Given the description of an element on the screen output the (x, y) to click on. 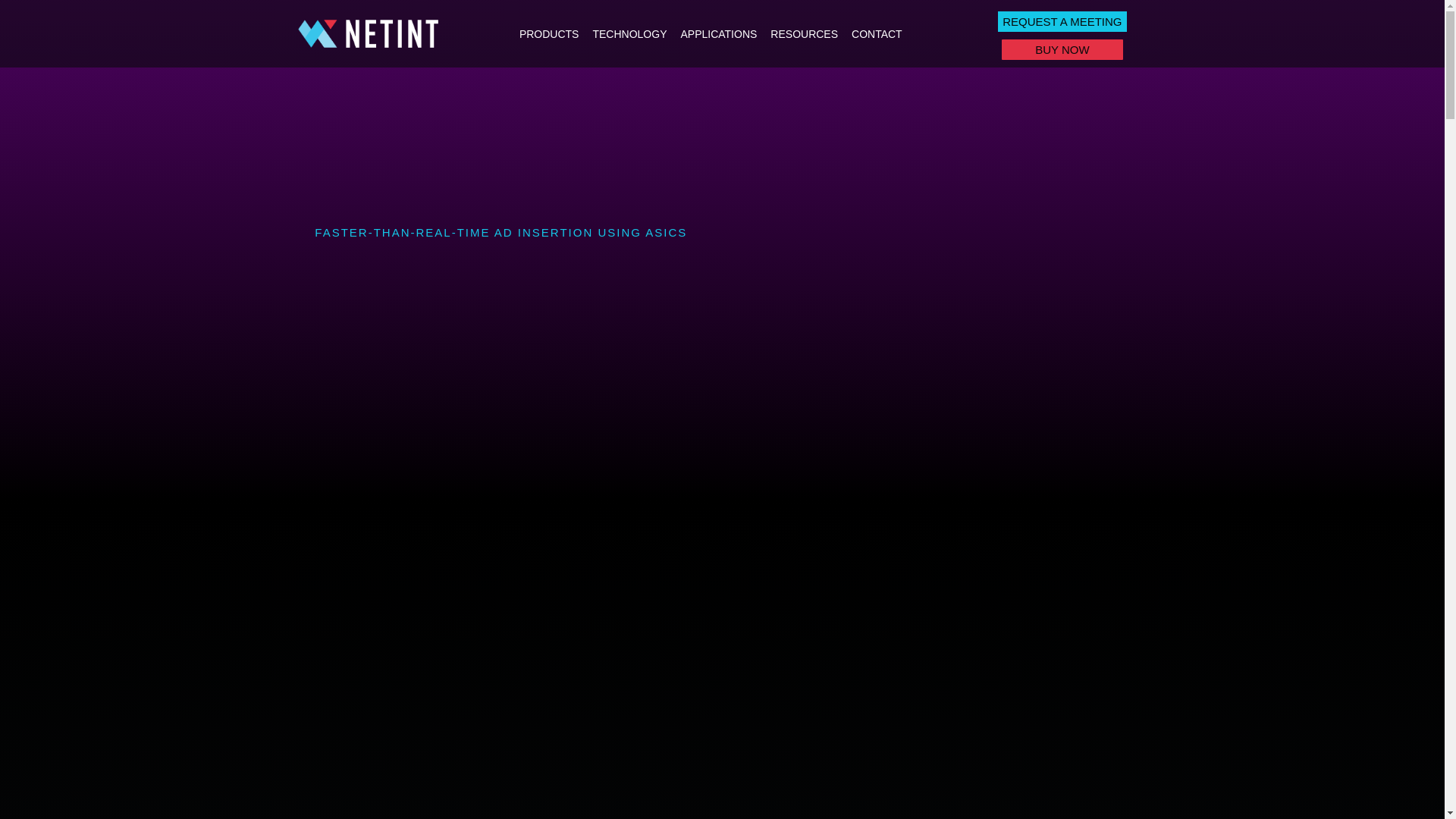
PRODUCTS (549, 33)
RESOURCES (804, 33)
TECHNOLOGY (629, 33)
APPLICATIONS (718, 33)
